Given the description of an element on the screen output the (x, y) to click on. 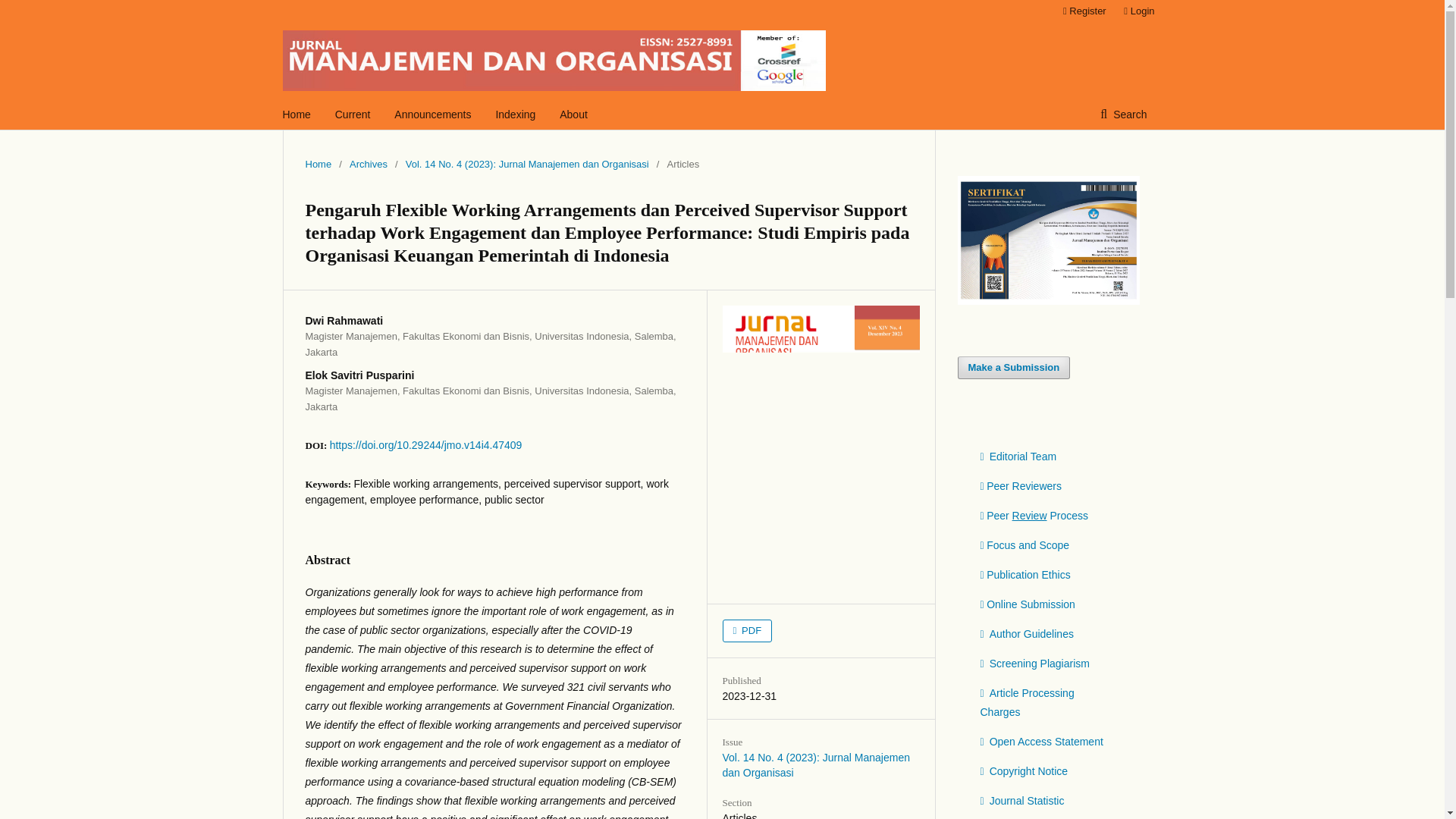
Register (1084, 11)
Home (296, 114)
 Open Access Statement (1040, 741)
JMO Satistics (1021, 800)
 Peer Reviewers (1020, 485)
Archives (368, 164)
Search (1122, 114)
 Publication Ethics (1024, 574)
About (573, 114)
 Screening Plagiarism (1034, 663)
Make a Submission (1013, 367)
Indexing (515, 114)
Announcements (432, 114)
 Author Guidelines (1026, 633)
 Peer Review Process (1033, 515)
